Given the description of an element on the screen output the (x, y) to click on. 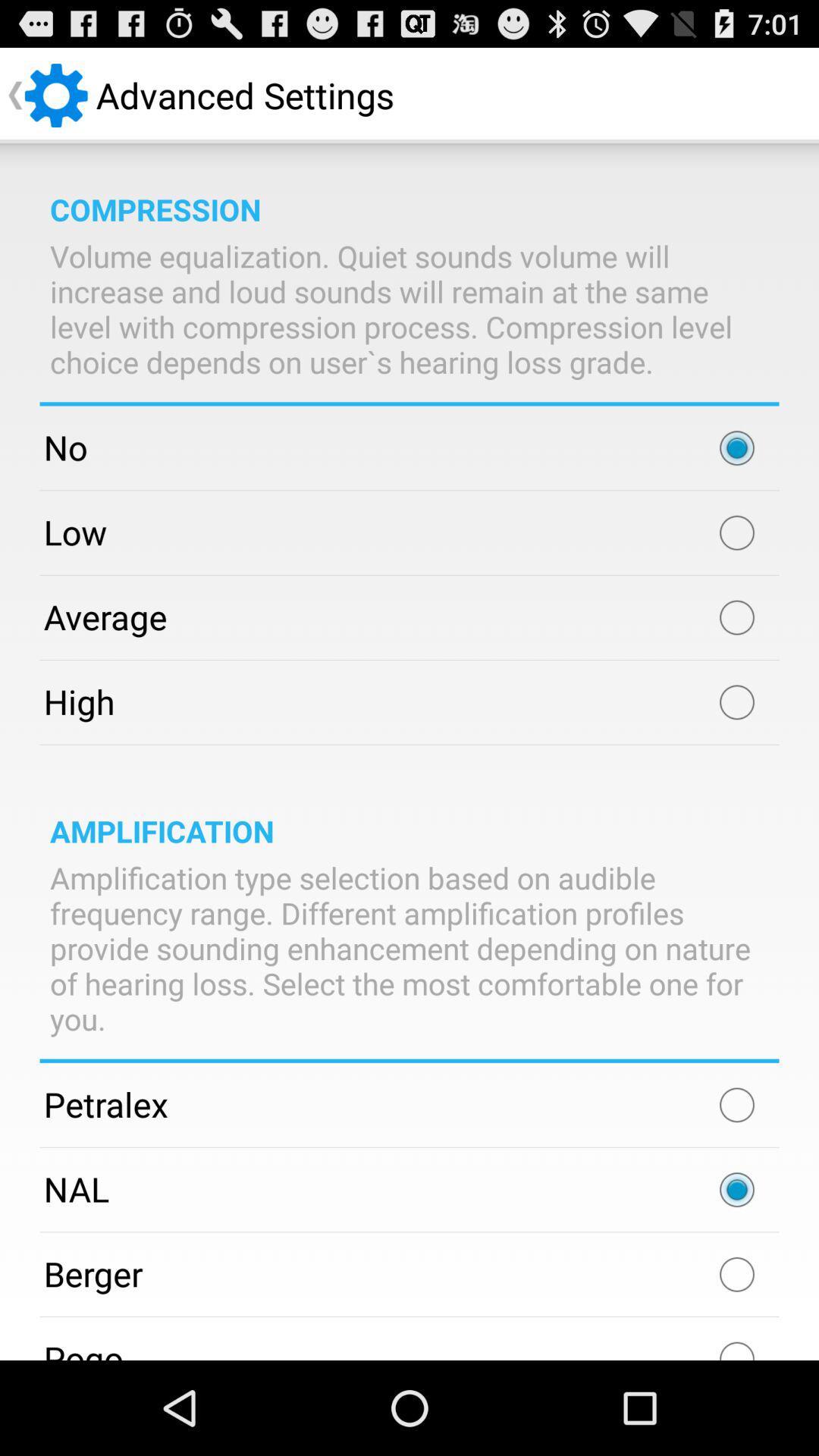
choose icon next to the nal app (736, 1189)
